Given the description of an element on the screen output the (x, y) to click on. 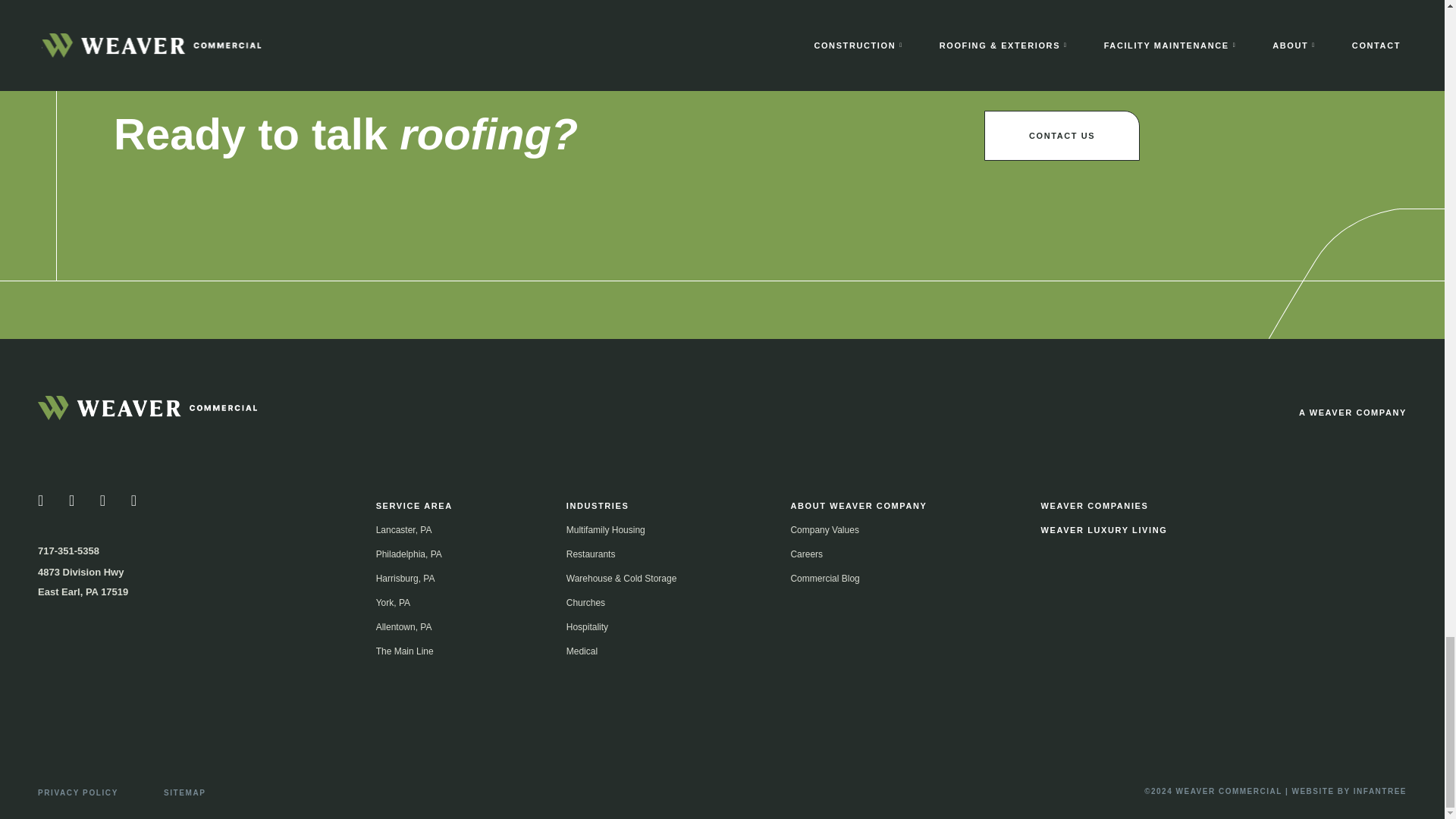
Weaver Commercial (150, 411)
CONTACT US (1062, 135)
717-351-5358 (68, 550)
